Given the description of an element on the screen output the (x, y) to click on. 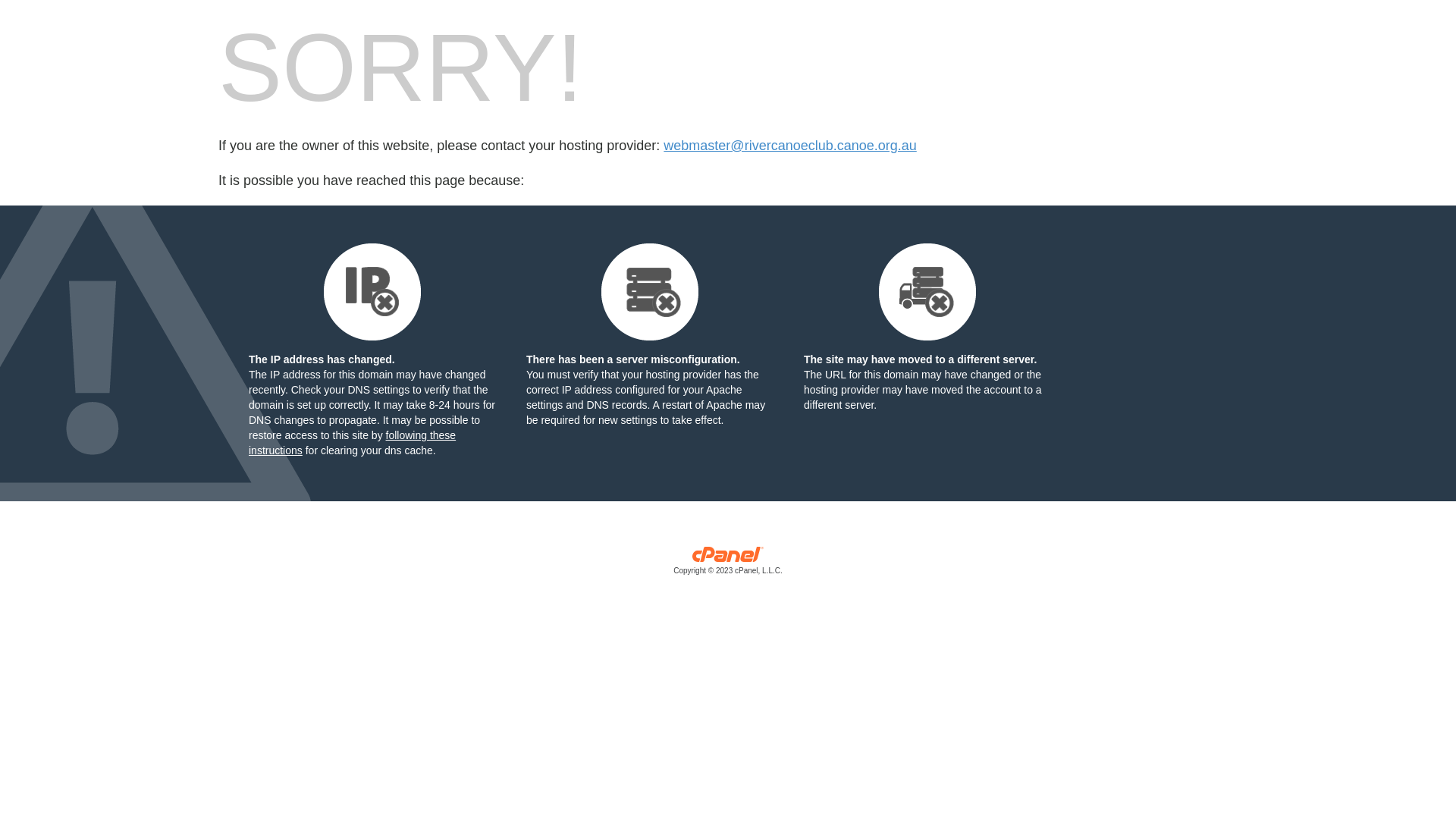
webmaster@rivercanoeclub.canoe.org.au Element type: text (789, 145)
following these instructions Element type: text (351, 442)
